Given the description of an element on the screen output the (x, y) to click on. 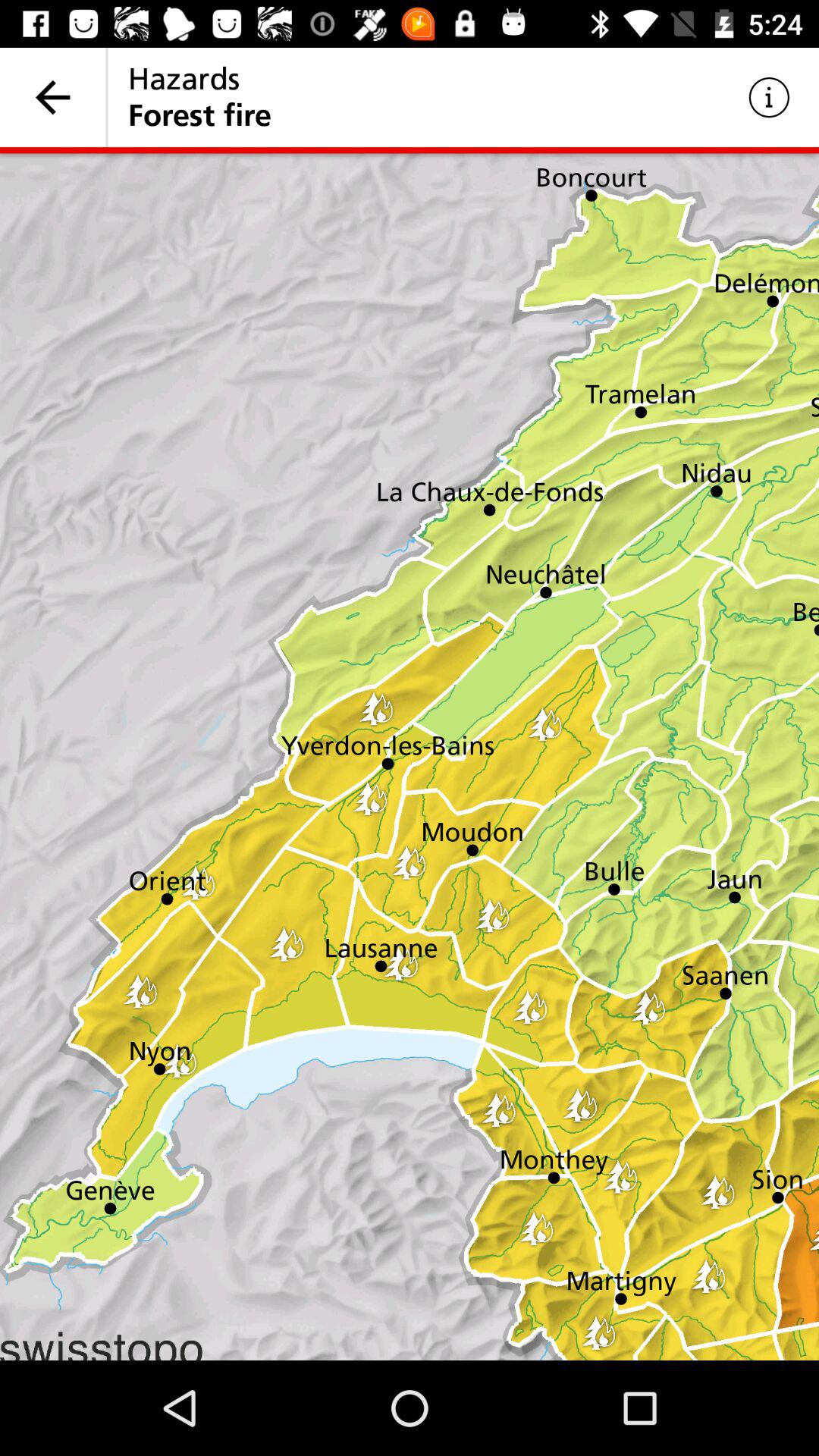
turn on item next to the hazards item (52, 97)
